Given the description of an element on the screen output the (x, y) to click on. 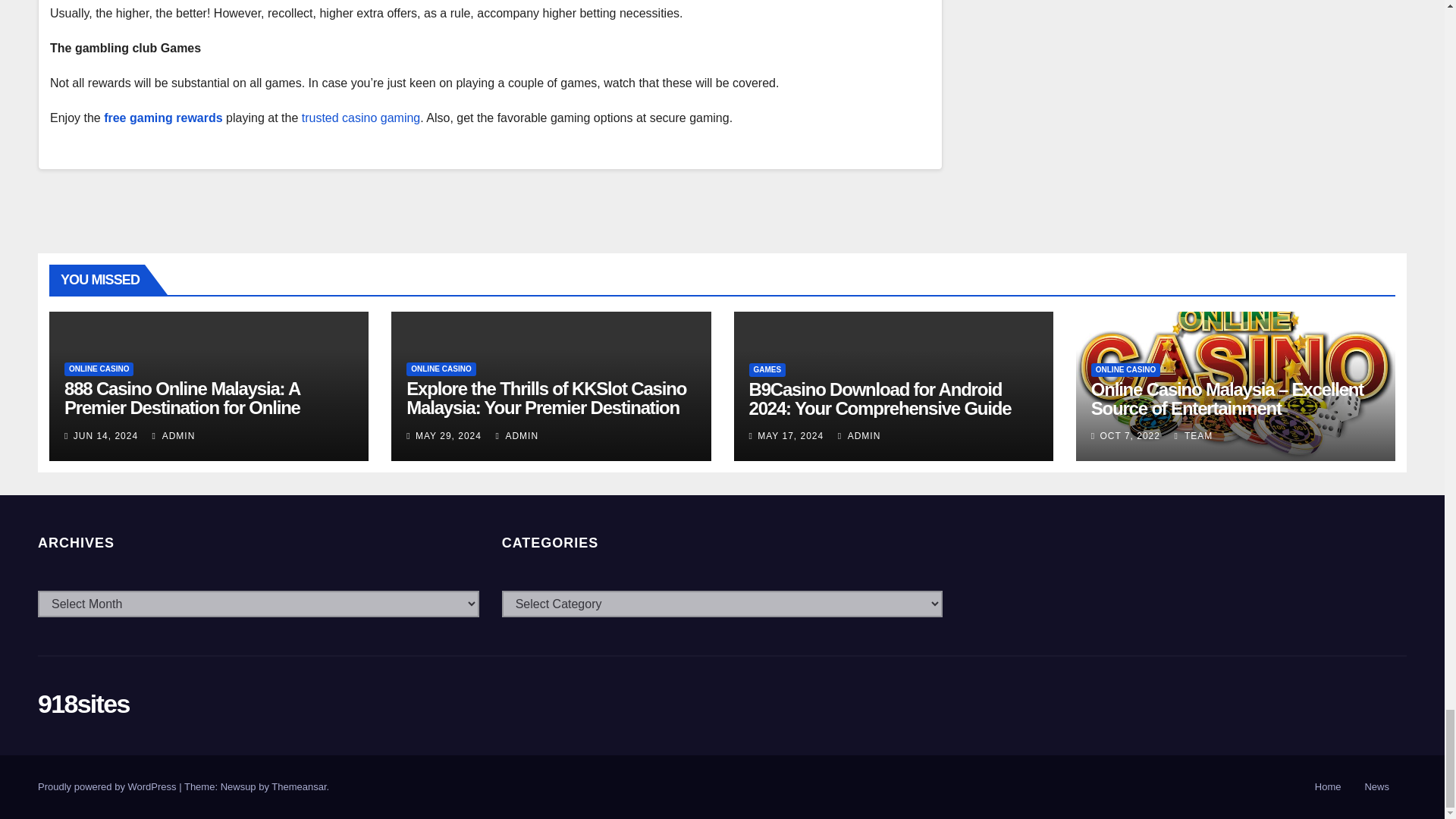
Home (1328, 786)
